Given the description of an element on the screen output the (x, y) to click on. 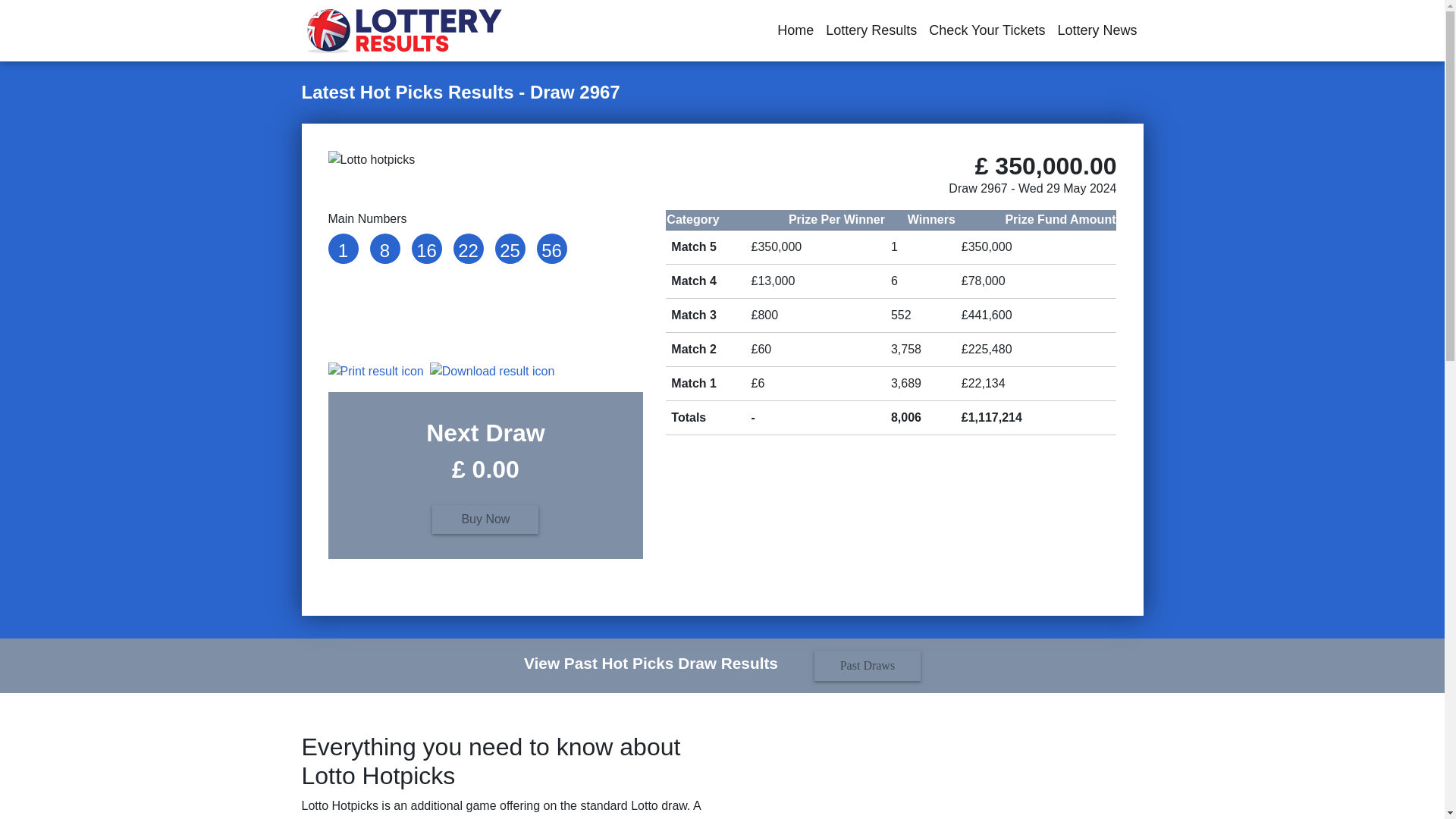
Buy Now (485, 517)
Lottery Results (871, 30)
Lottery News (1096, 30)
Home (795, 30)
Past Draws (848, 664)
Check Your Tickets (987, 30)
Buy Now (485, 519)
Past Draws (866, 665)
